Given the description of an element on the screen output the (x, y) to click on. 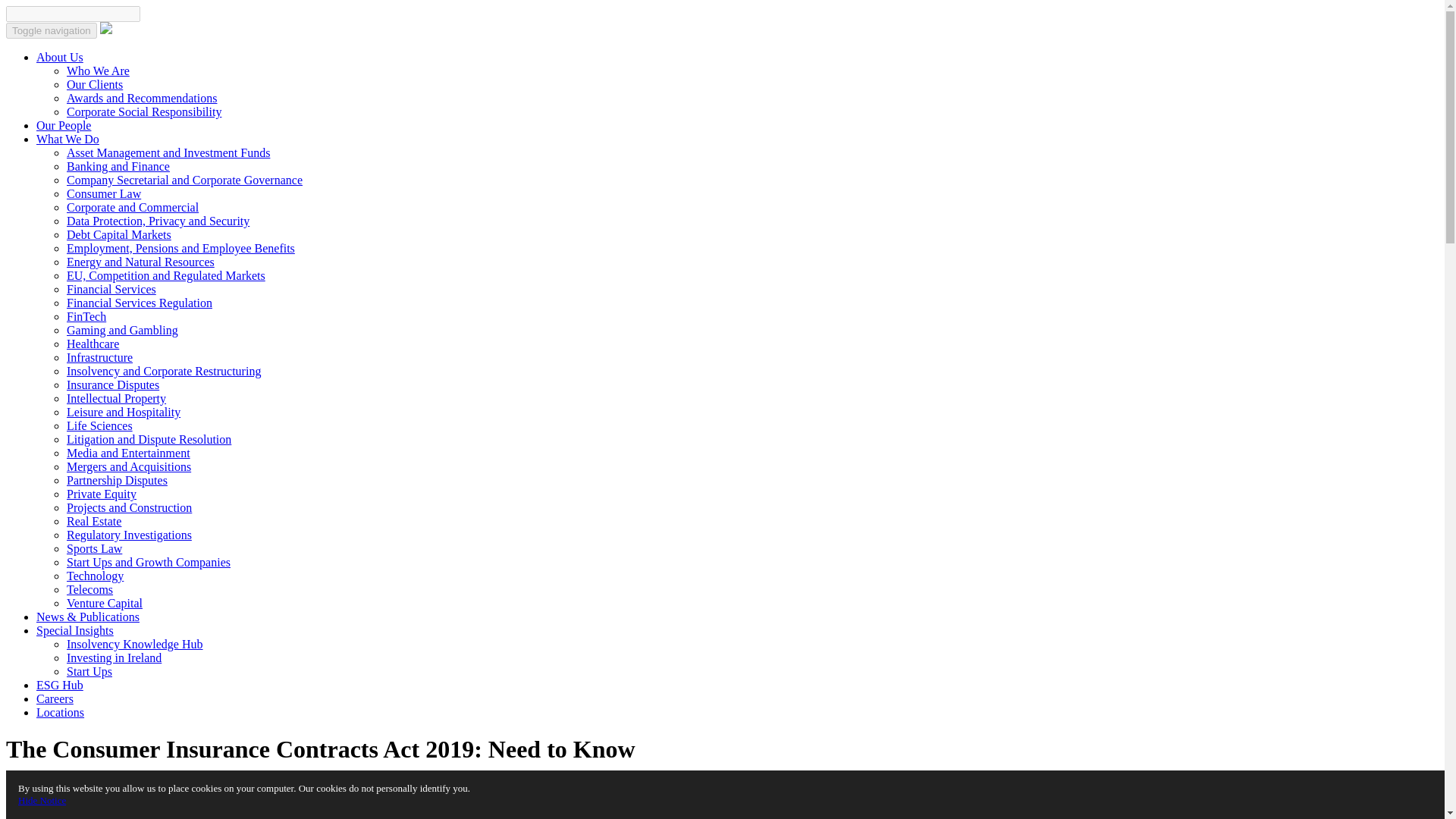
Our Clients (94, 83)
Company Secretarial and Corporate Governance (184, 179)
Our People (63, 124)
Gaming and Gambling (121, 329)
Infrastructure (99, 357)
Banking and Finance (118, 165)
Media and Entertainment (128, 452)
Intellectual Property (115, 398)
EU, Competition and Regulated Markets (165, 275)
Corporate Social Responsibility (143, 111)
